Given the description of an element on the screen output the (x, y) to click on. 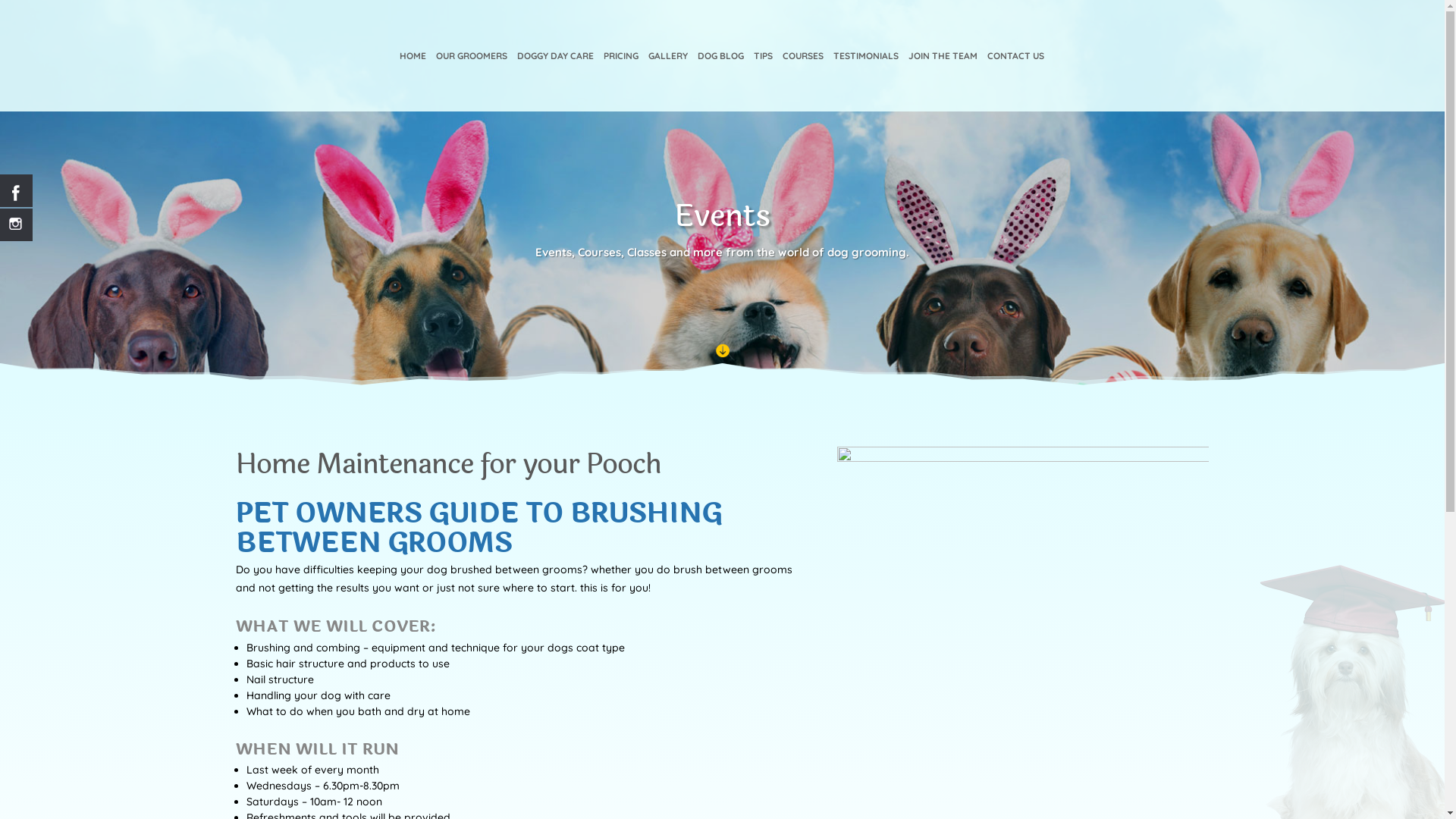
GALLERY Element type: text (667, 80)
DOGGY DAY CARE Element type: text (555, 80)
TESTIMONIALS Element type: text (864, 80)
CONTACT US Element type: text (1015, 80)
HOME Element type: text (411, 80)
OUR GROOMERS Element type: text (470, 80)
DOG BLOG Element type: text (720, 80)
PRICING Element type: text (620, 80)
JOIN THE TEAM Element type: text (942, 80)
COURSES Element type: text (802, 80)
TIPS Element type: text (762, 80)
